Given the description of an element on the screen output the (x, y) to click on. 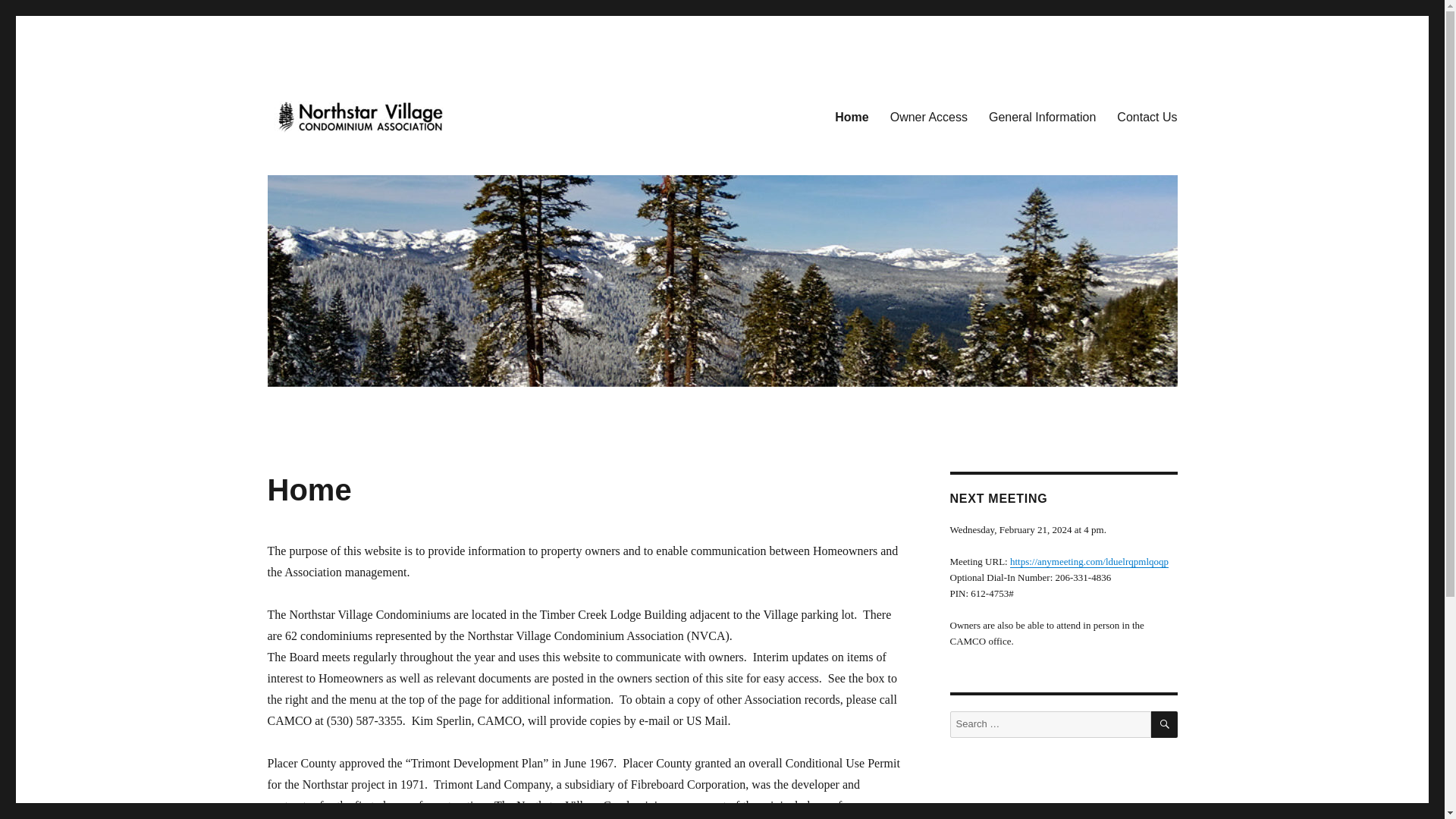
General Information (1042, 116)
SEARCH (1164, 724)
Home (851, 116)
Owner Access (928, 116)
Contact Us (1147, 116)
Northstar Village (351, 156)
